Given the description of an element on the screen output the (x, y) to click on. 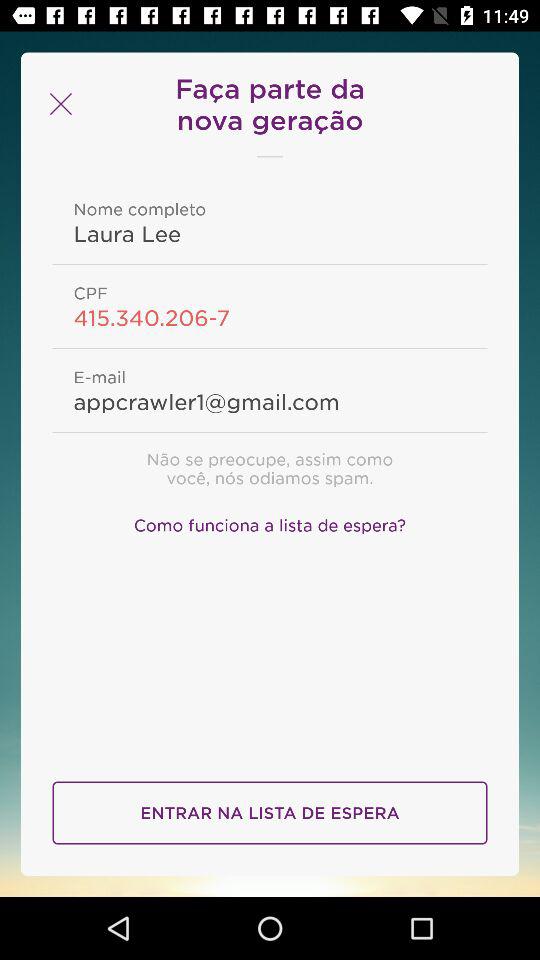
turn on item above the cpf (269, 233)
